Given the description of an element on the screen output the (x, y) to click on. 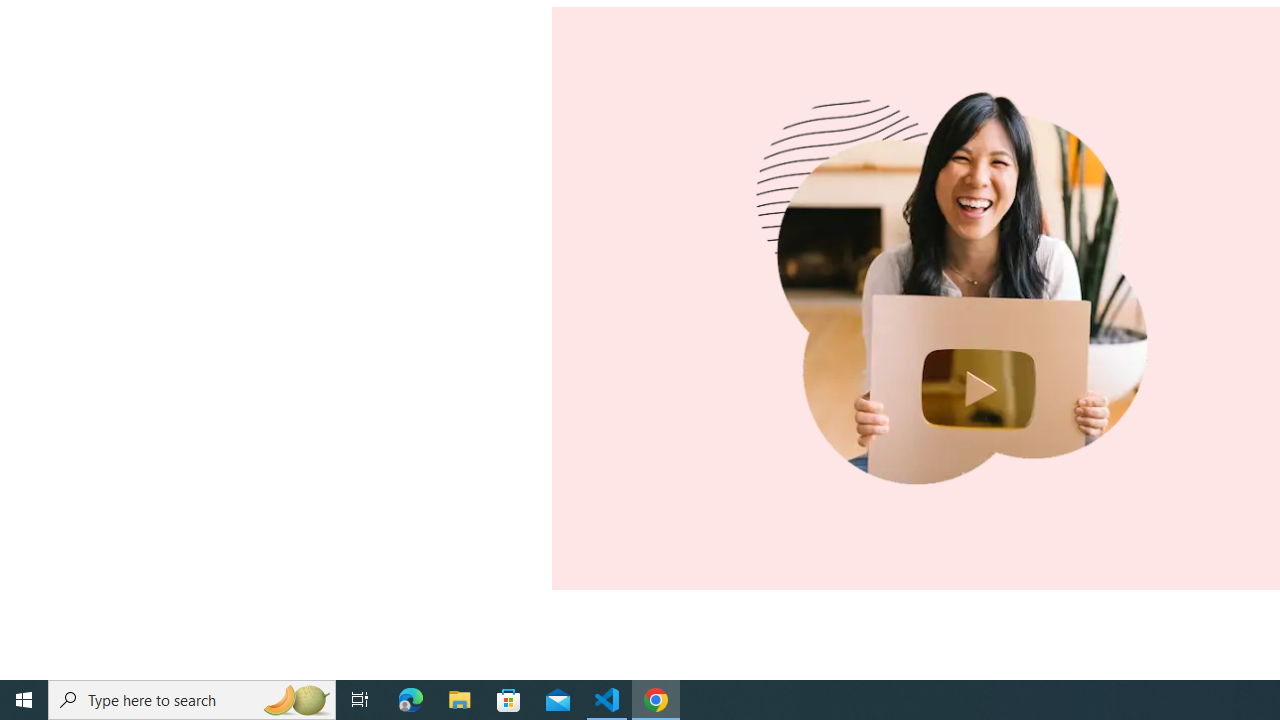
10 years of Creator Awards (961, 298)
